Given the description of an element on the screen output the (x, y) to click on. 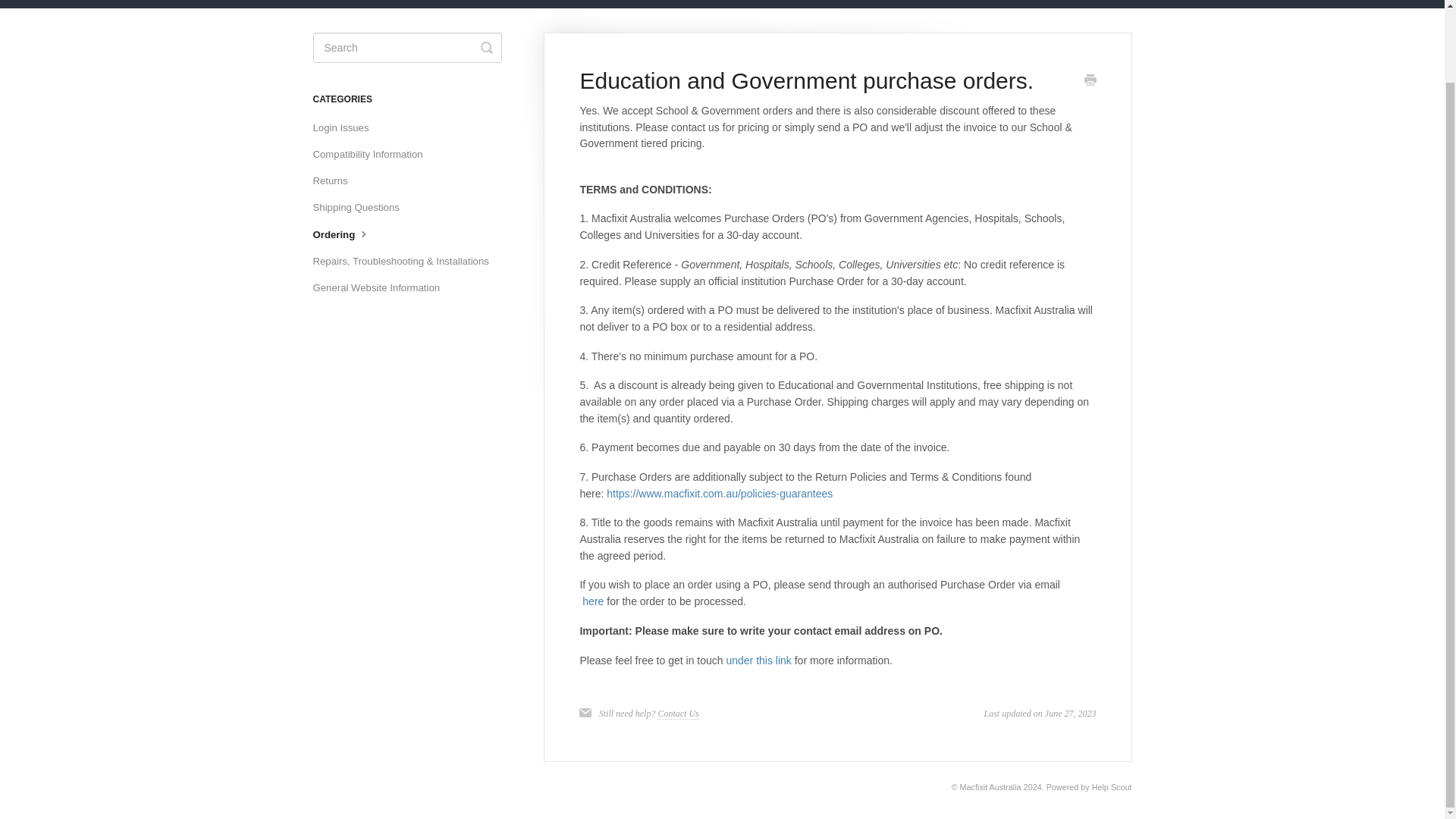
Contact (1102, 4)
Home (1047, 4)
Compatibility Information (373, 154)
Returns (335, 180)
here  (594, 601)
Login Issues (346, 128)
Macfixit Australia (990, 786)
Ordering (347, 234)
Contact Us (678, 713)
search-query (406, 47)
Help Scout (1112, 786)
Shipping Questions (361, 207)
under this link (757, 659)
General Website Information (382, 288)
